Given the description of an element on the screen output the (x, y) to click on. 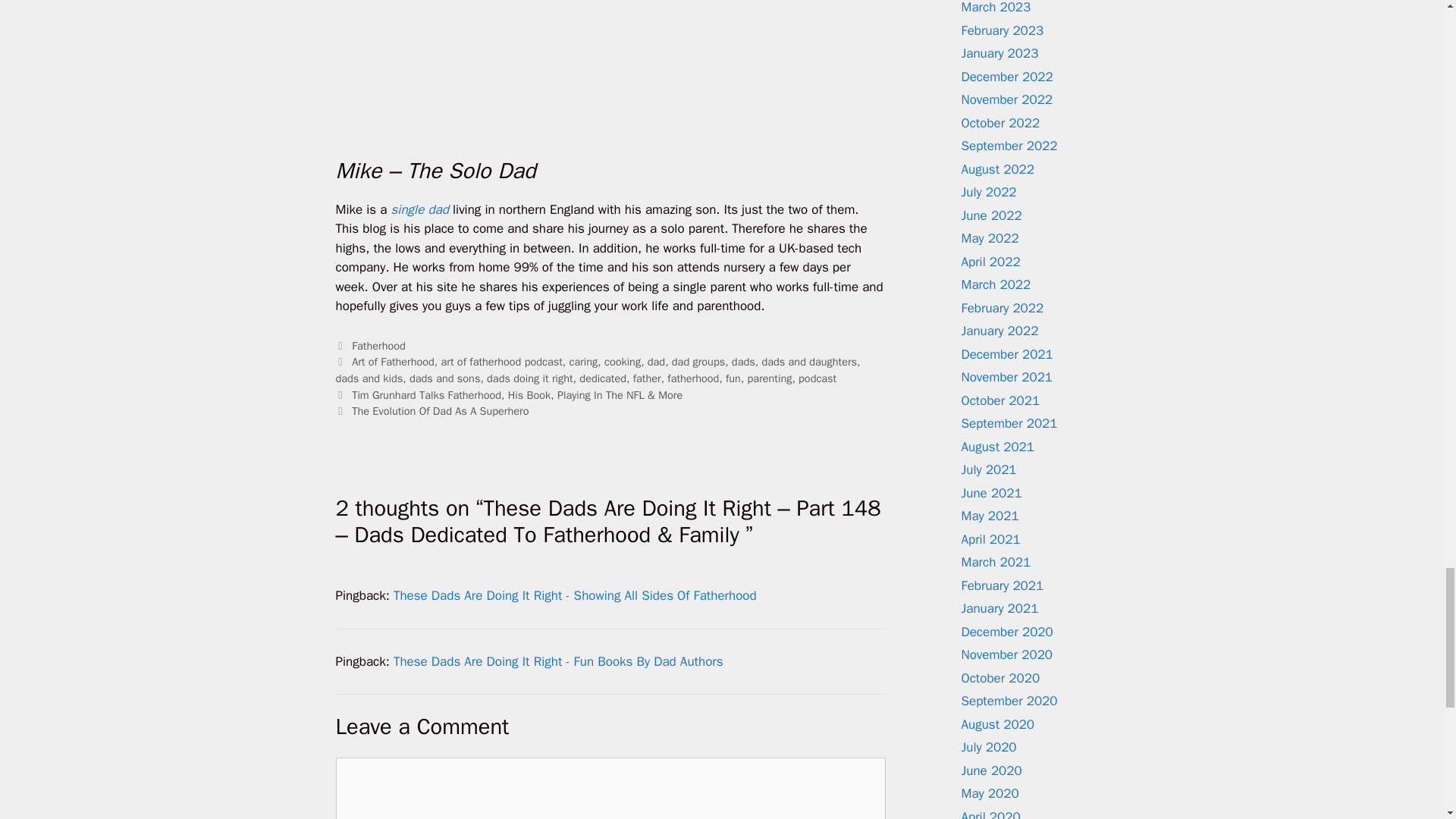
dads and daughters (809, 361)
art of fatherhood podcast (501, 361)
dad (656, 361)
fun (733, 377)
dads (743, 361)
single dad (419, 209)
dad groups (698, 361)
dads doing it right (529, 377)
podcast (816, 377)
father (647, 377)
parenting (770, 377)
Art of Fatherhood (392, 361)
fatherhood (692, 377)
caring (582, 361)
cooking (622, 361)
